Given the description of an element on the screen output the (x, y) to click on. 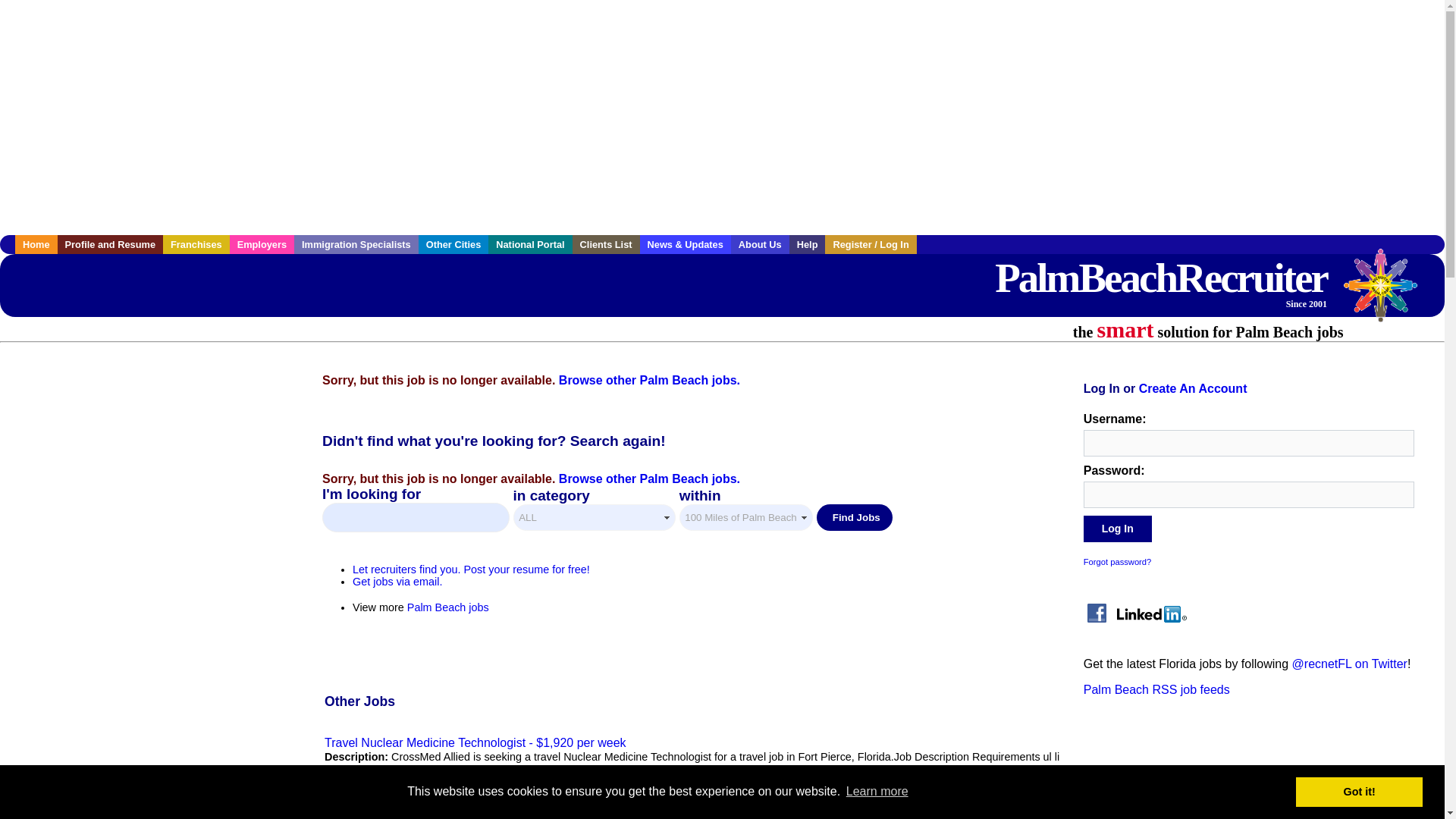
Advertisement (153, 463)
National Portal (529, 244)
Got it! (1358, 791)
Palm Beach  job seekers (110, 244)
Find Jobs (854, 517)
Get  jobs via email (397, 581)
About Us (759, 244)
Find Jobs (854, 517)
Login to my Palm Beach  account (870, 244)
Post your  resume for free! (470, 569)
Search jobs in Palm Beach (1160, 280)
Clients List (606, 244)
Learn more (877, 791)
Other Recruiter Networks Cities (454, 244)
Palm Beach Immigration Specialists (356, 244)
